Given the description of an element on the screen output the (x, y) to click on. 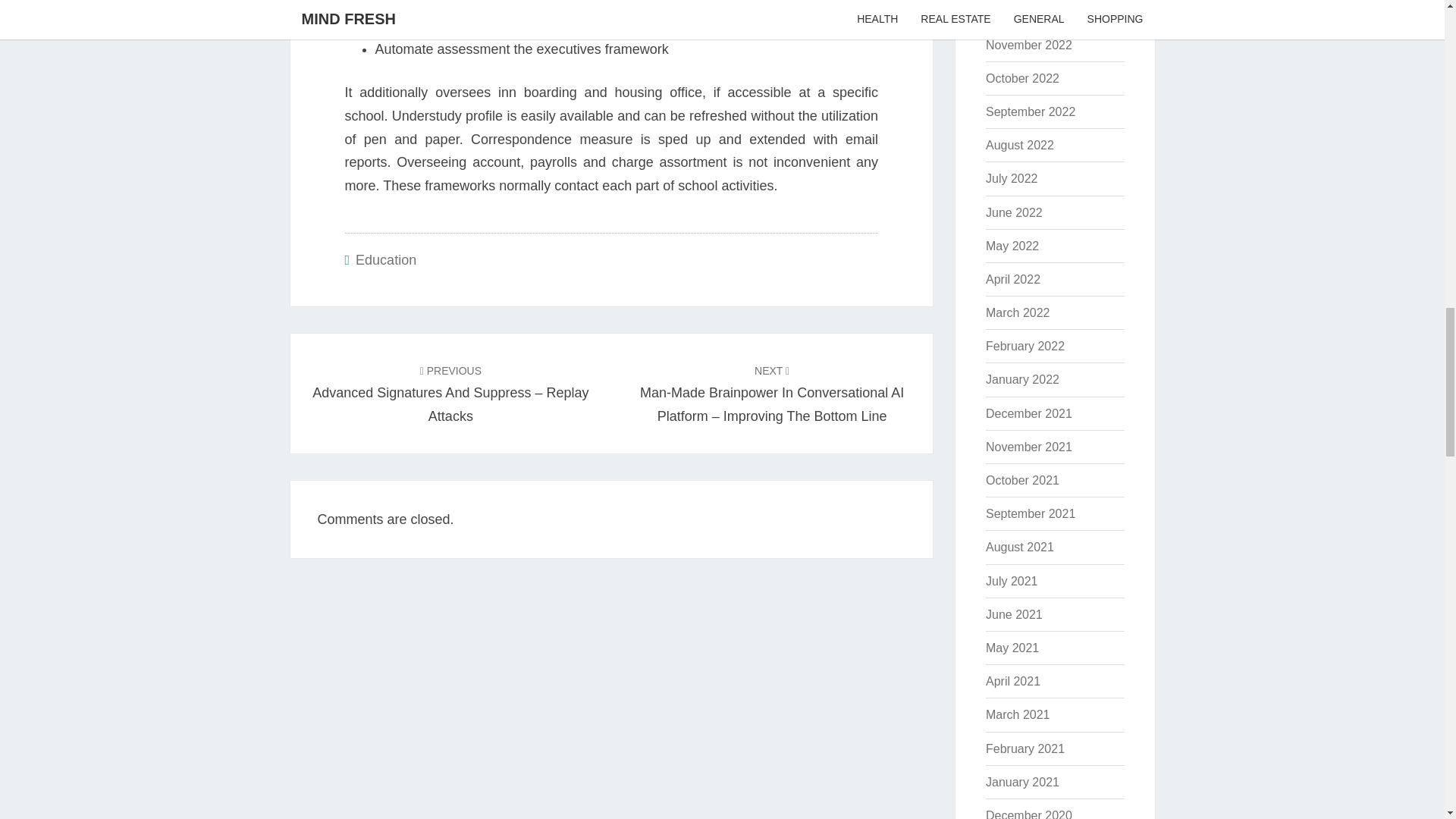
Education (385, 259)
July 2022 (1011, 178)
March 2022 (1017, 312)
April 2022 (1013, 278)
December 2022 (1028, 10)
October 2022 (1022, 78)
September 2022 (1030, 111)
May 2022 (1012, 245)
June 2022 (1013, 212)
November 2022 (1028, 44)
August 2022 (1019, 144)
